Given the description of an element on the screen output the (x, y) to click on. 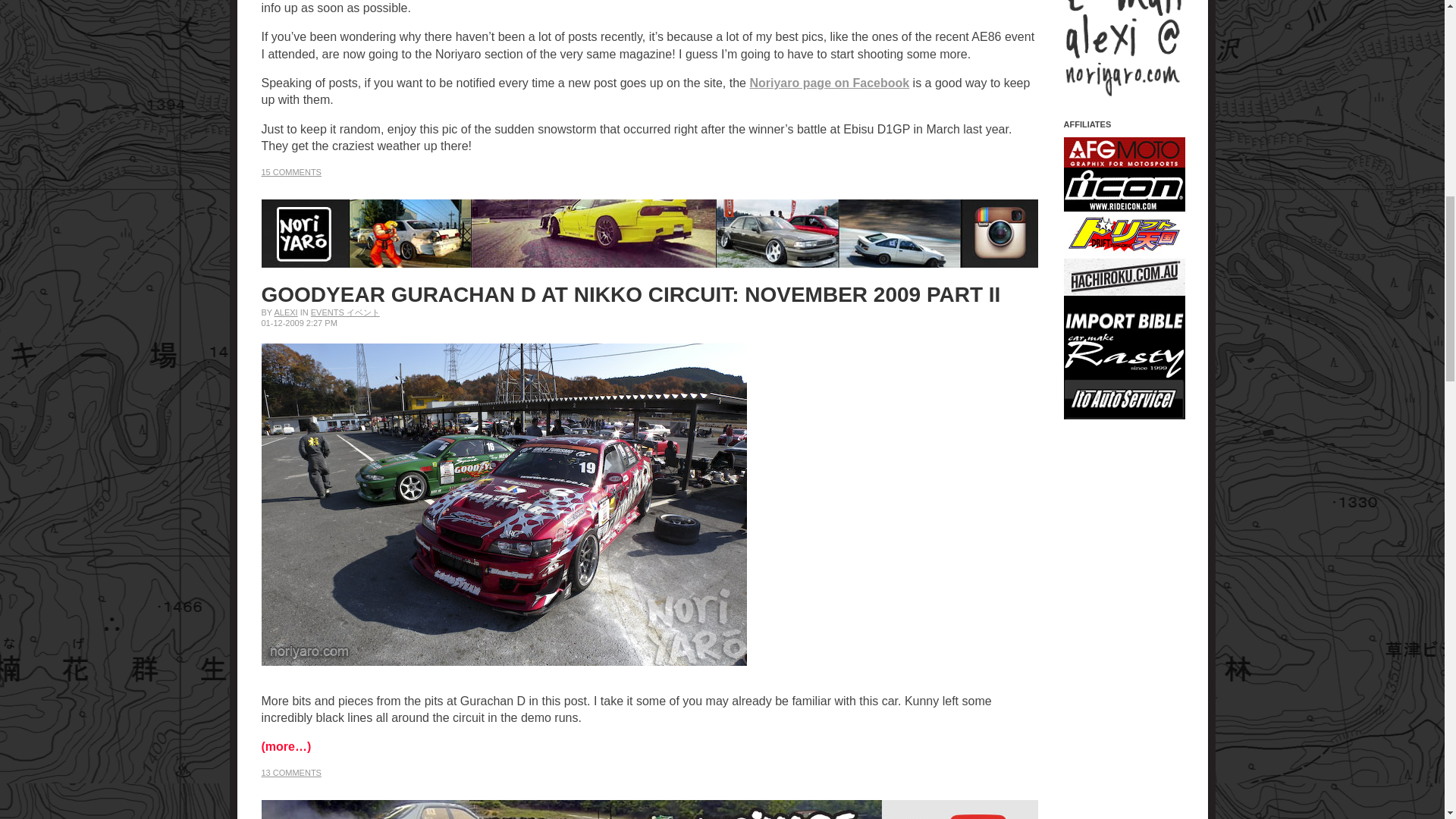
GOODYEAR GURACHAN D AT NIKKO CIRCUIT: NOVEMBER 2009 PART II (630, 294)
GOODYEAR GURACHAN D AT NIKKO CIRCUIT: November 2009 Part II (630, 294)
Posts by Alexi (285, 311)
15 COMMENTS (290, 171)
ALEXI (285, 311)
13 COMMENTS (290, 772)
Noriyaro page on Facebook (828, 82)
